Given the description of an element on the screen output the (x, y) to click on. 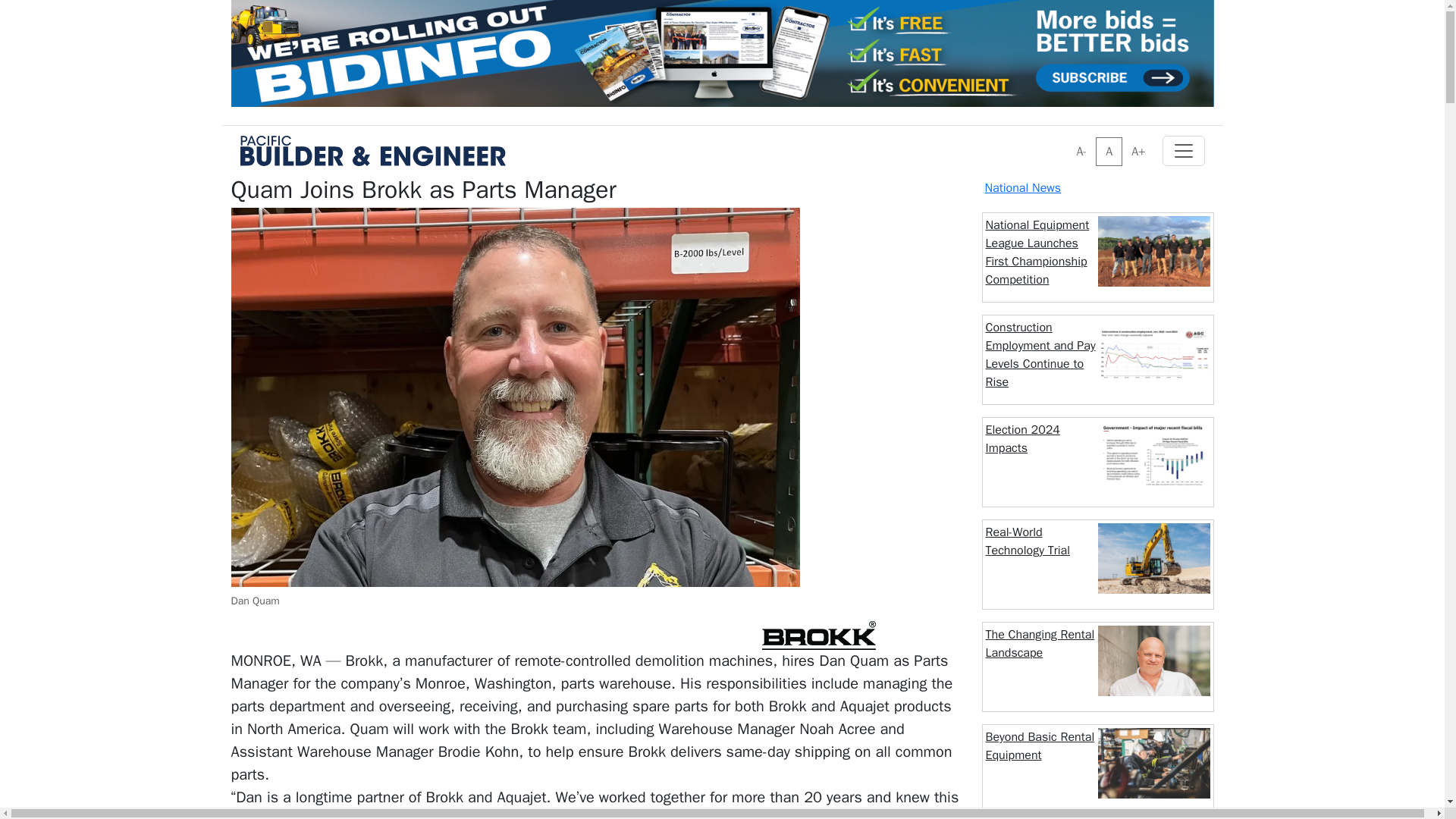
National News (1022, 187)
Beyond Basic Rental Equipment (1039, 745)
on (1070, 142)
on (1070, 142)
Real-World Technology Trial (1027, 540)
Election 2024 Impacts (1022, 438)
on (1070, 142)
The Changing Rental Landscape (1039, 643)
Construction Employment and Pay Levels Continue to Rise (1040, 354)
